Given the description of an element on the screen output the (x, y) to click on. 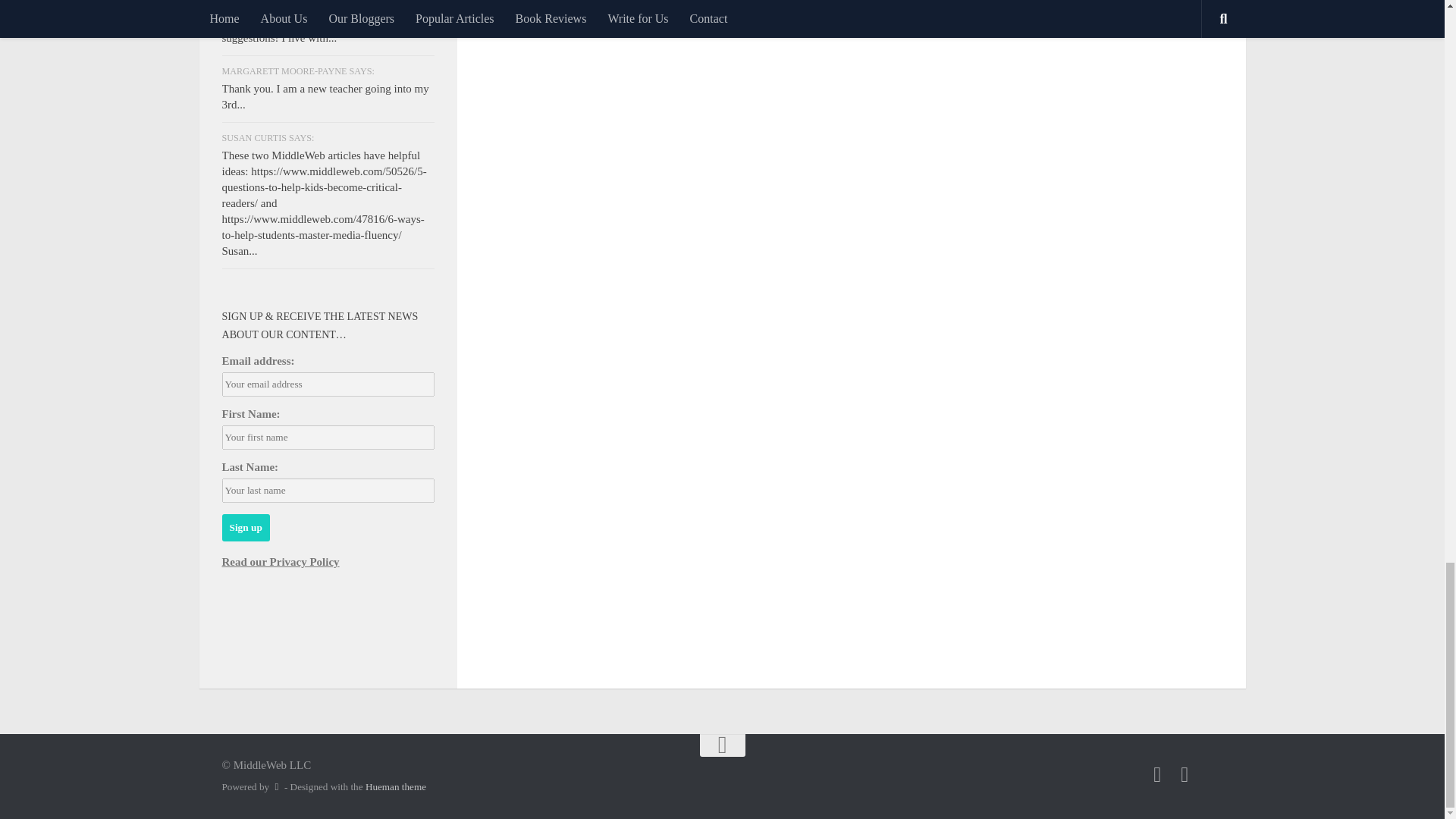
Sign up (245, 527)
